Given the description of an element on the screen output the (x, y) to click on. 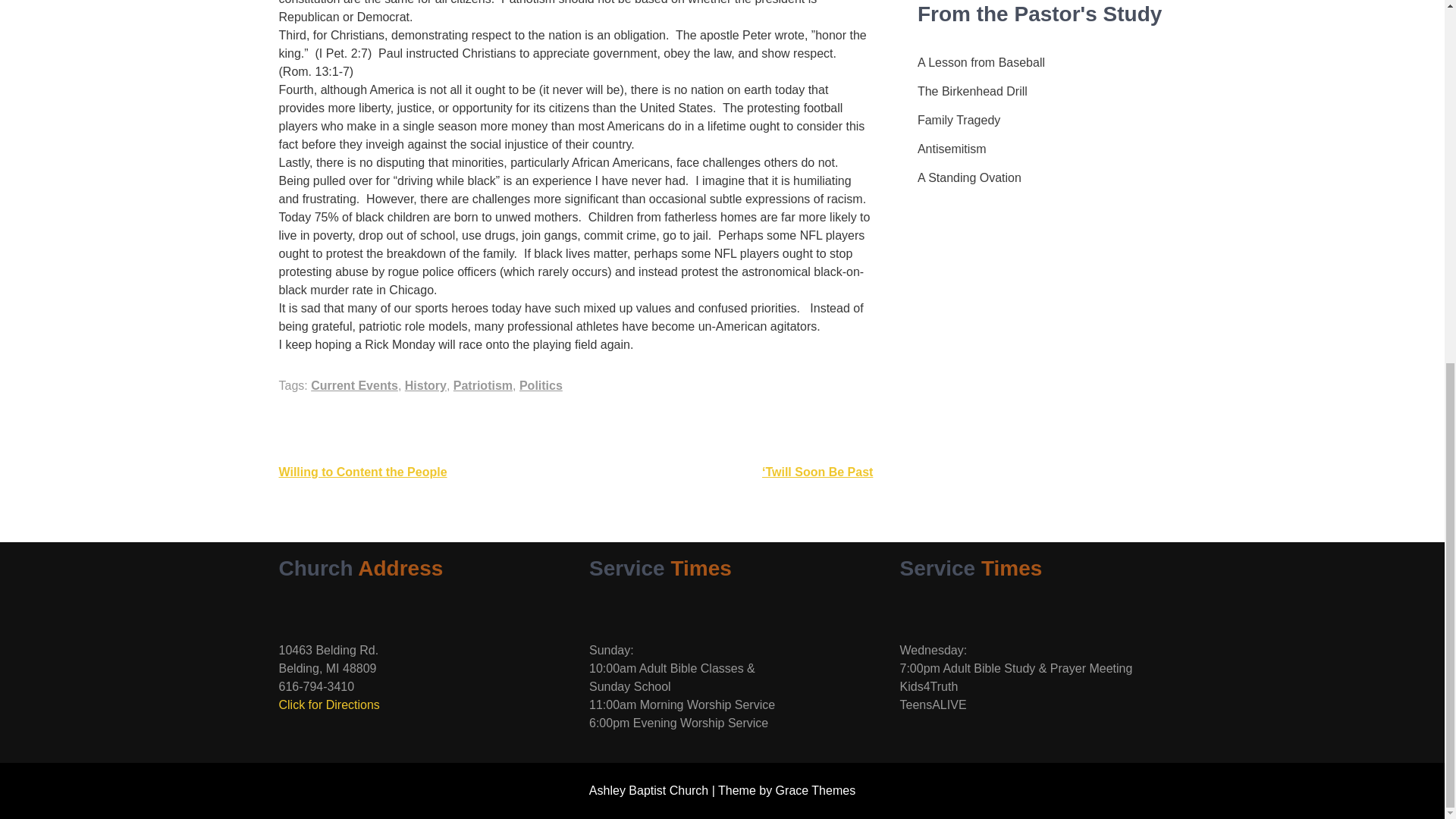
Politics (540, 385)
Current Events (354, 385)
Patriotism (482, 385)
Willing to Content the People (362, 472)
History (425, 385)
